Given the description of an element on the screen output the (x, y) to click on. 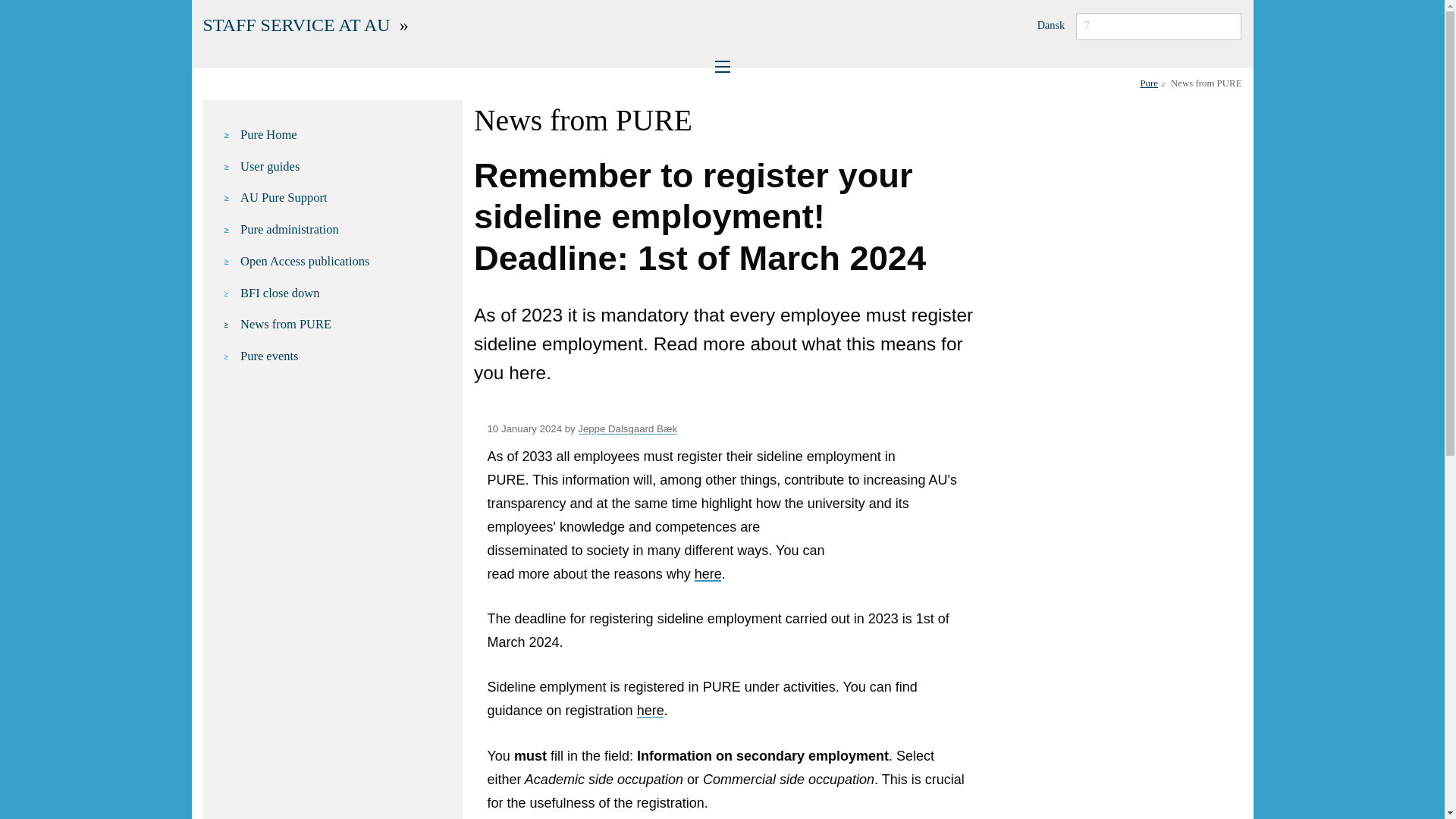
AU Pure Support (342, 198)
Pure Home (342, 134)
Open Access publications (342, 261)
Pure administration (342, 229)
Dansk (1050, 24)
Pure events (342, 356)
here (708, 573)
News from PURE (342, 324)
Type search criteria (1158, 25)
Pure (1148, 82)
Search (19, 7)
Dansk (1050, 24)
here (650, 710)
User guides (342, 166)
BFI close down (342, 293)
